Given the description of an element on the screen output the (x, y) to click on. 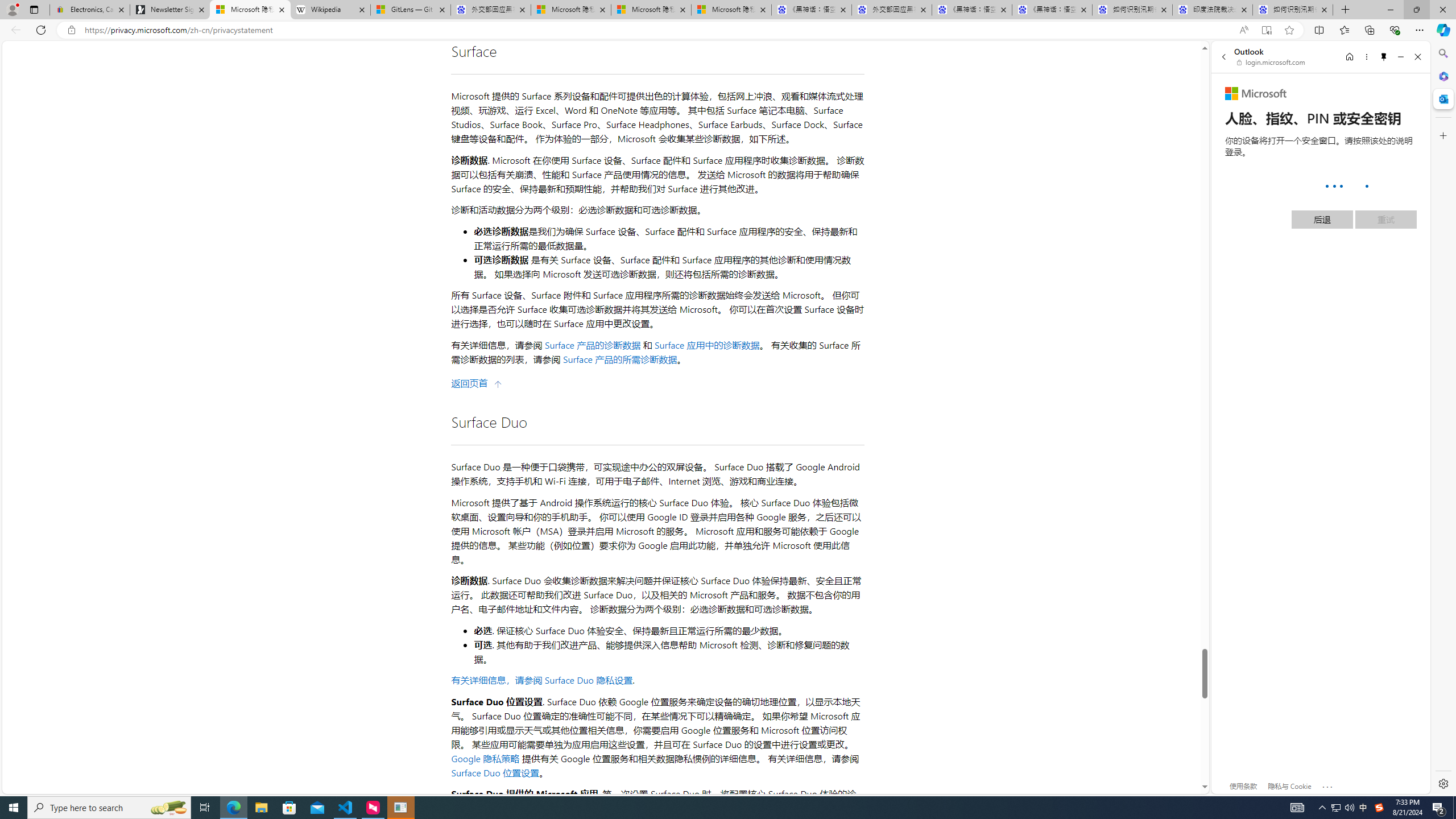
Enter Immersive Reader (F9) (1266, 29)
Unpin side pane (1383, 56)
